Given the description of an element on the screen output the (x, y) to click on. 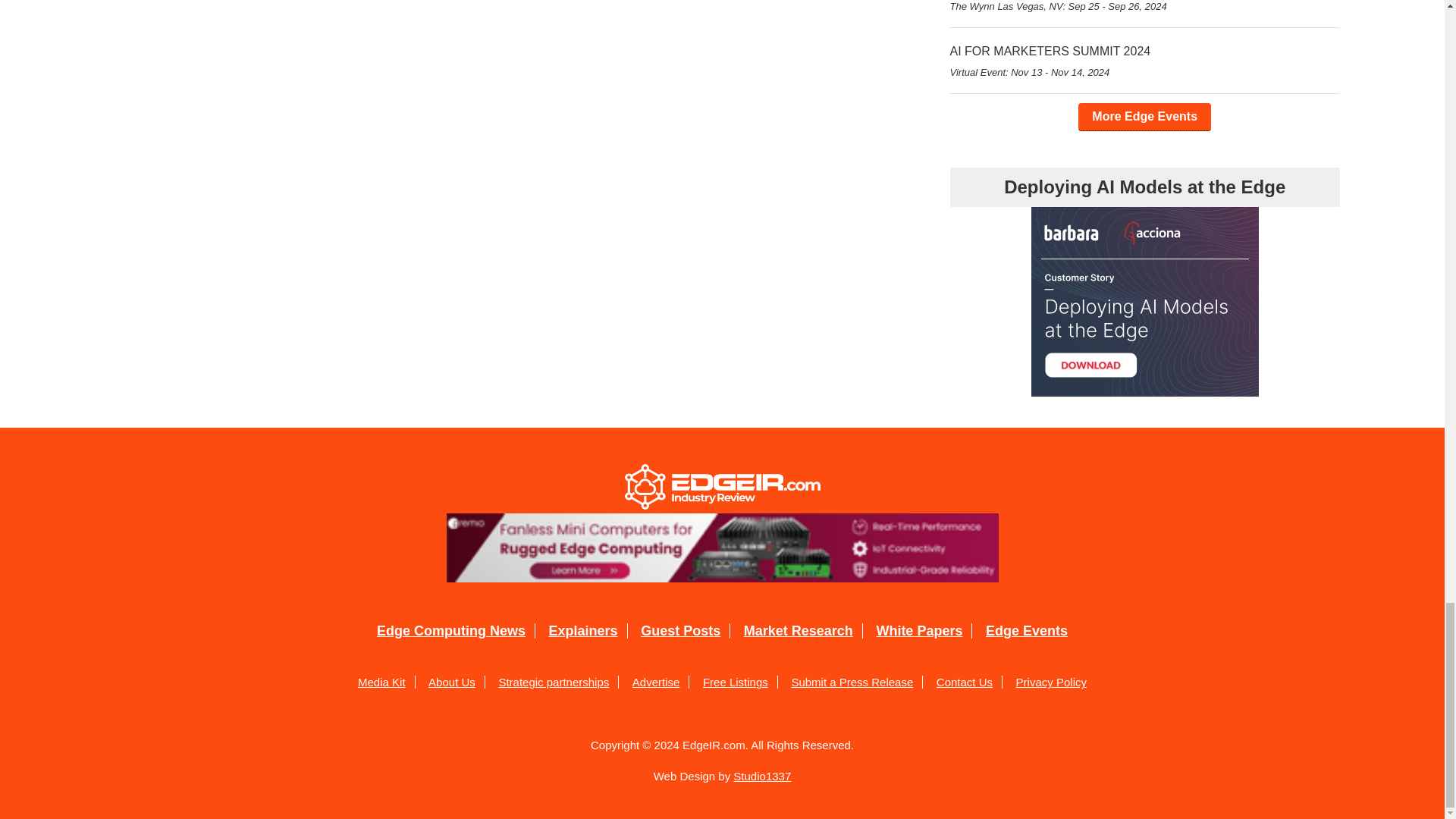
3rd party ad content (722, 547)
